Given the description of an element on the screen output the (x, y) to click on. 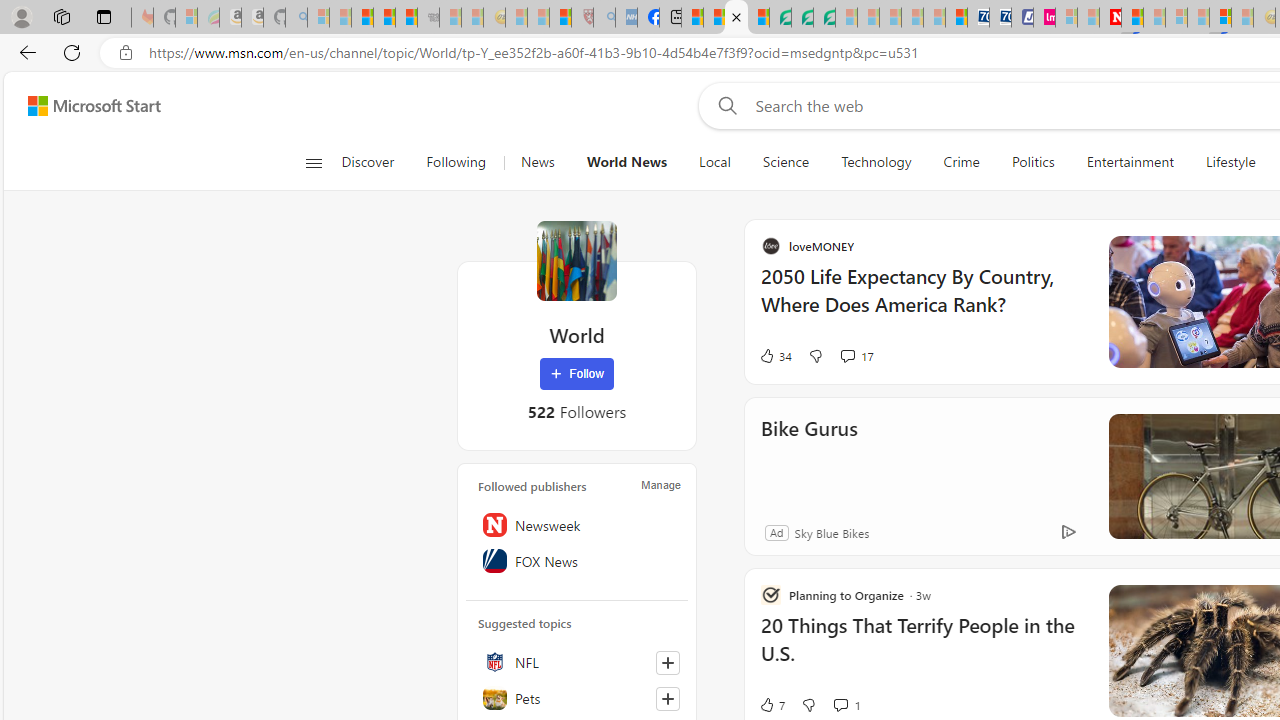
Pets (577, 697)
View comments 17 Comment (1049, 355)
Follow (577, 373)
FOX News (577, 561)
